Given the description of an element on the screen output the (x, y) to click on. 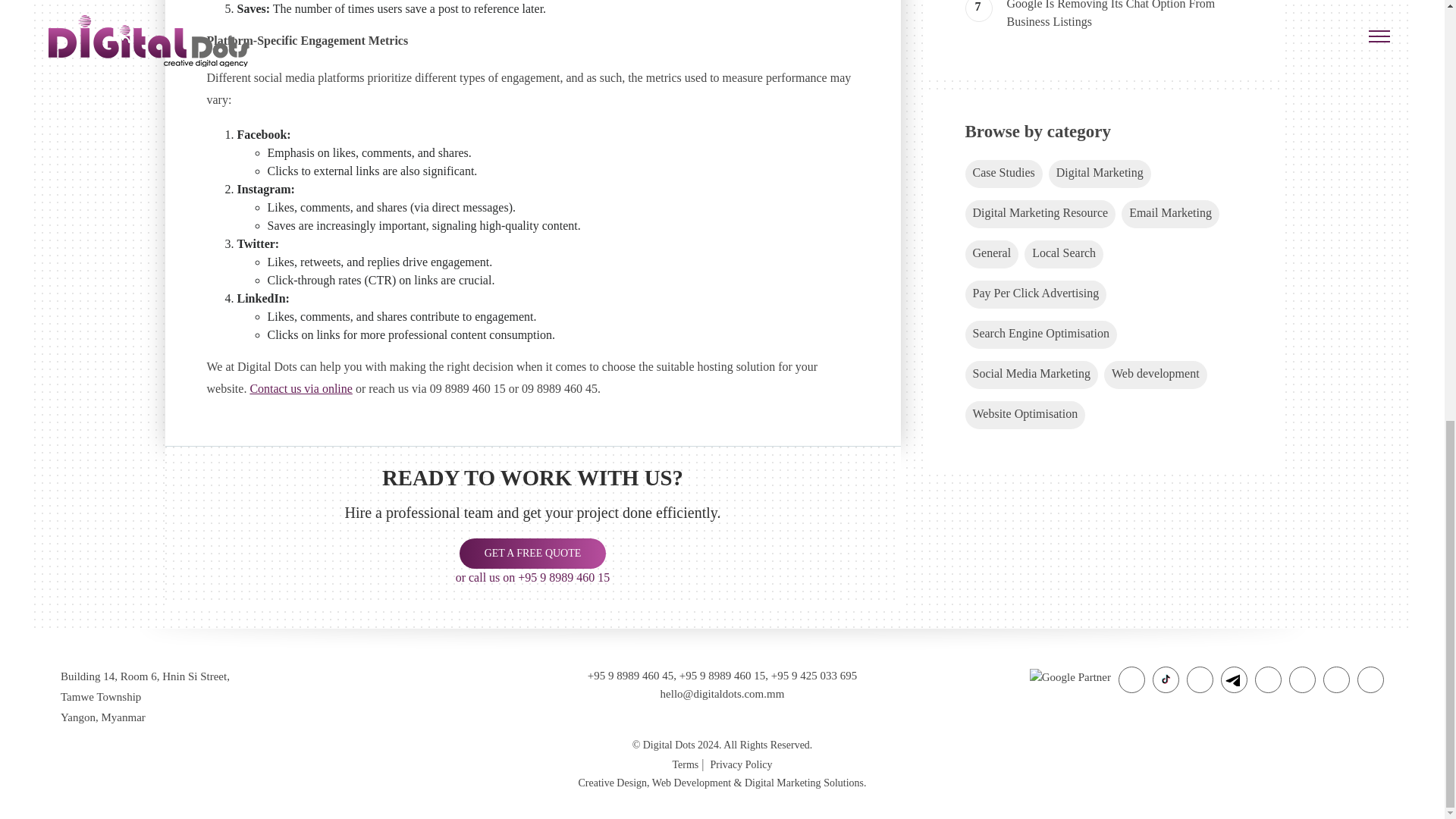
Google Partner (1069, 675)
